Given the description of an element on the screen output the (x, y) to click on. 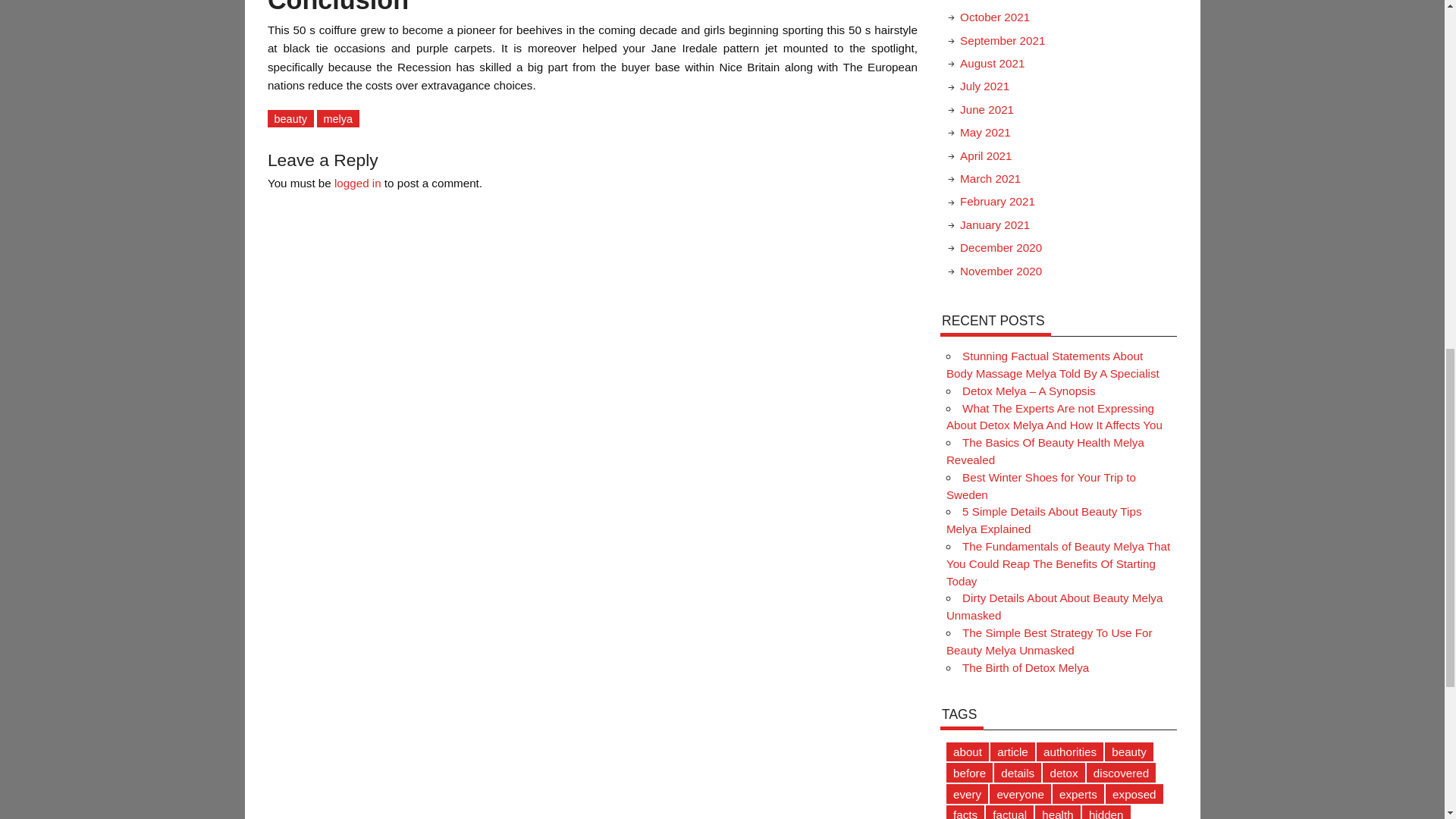
September 2021 (1002, 40)
logged in (357, 182)
October 2021 (994, 16)
June 2021 (986, 109)
March 2021 (989, 178)
melya (338, 118)
April 2021 (985, 155)
beauty (290, 118)
August 2021 (992, 62)
